Given the description of an element on the screen output the (x, y) to click on. 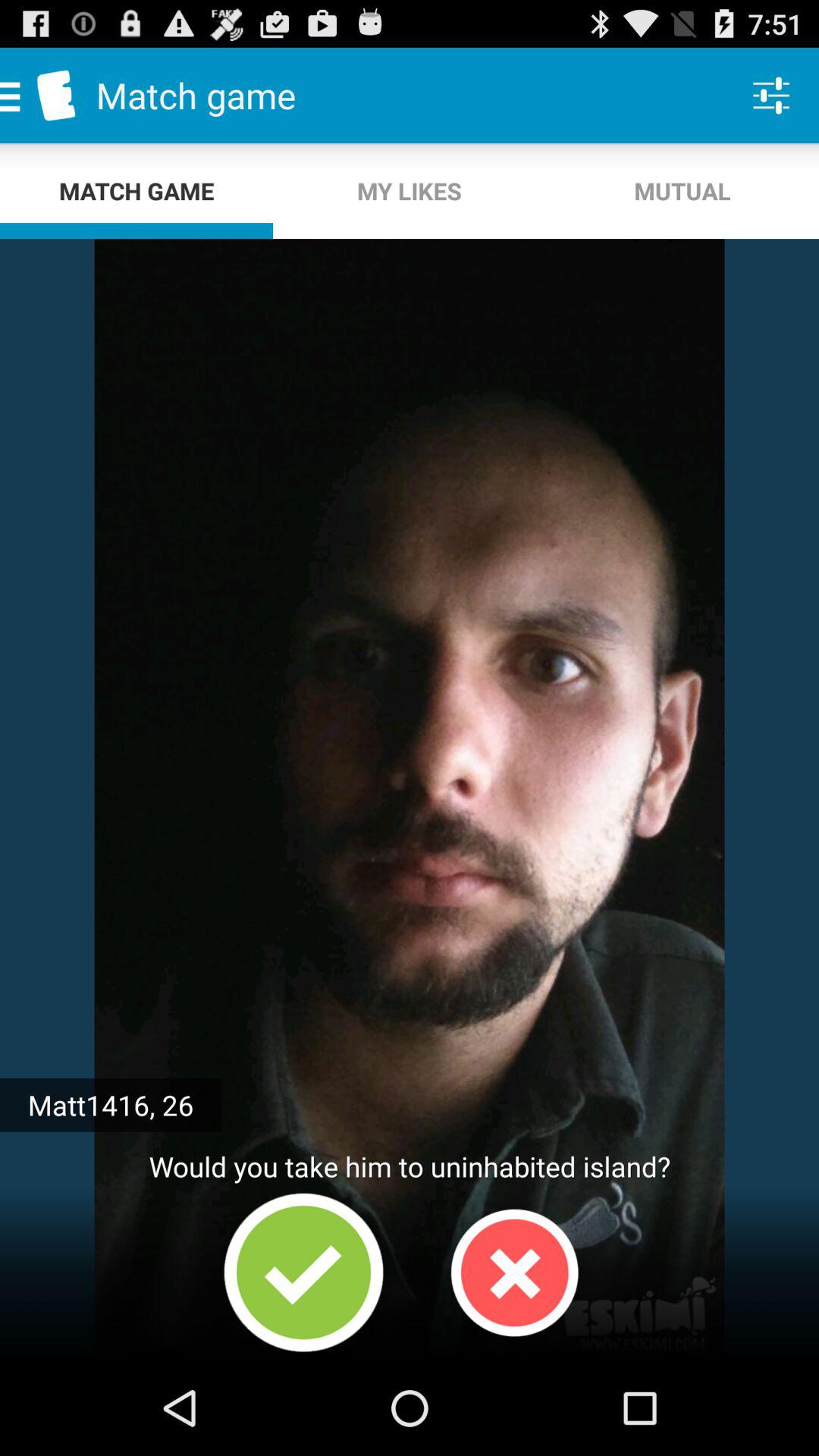
choose item to the left of the mutual icon (409, 190)
